Given the description of an element on the screen output the (x, y) to click on. 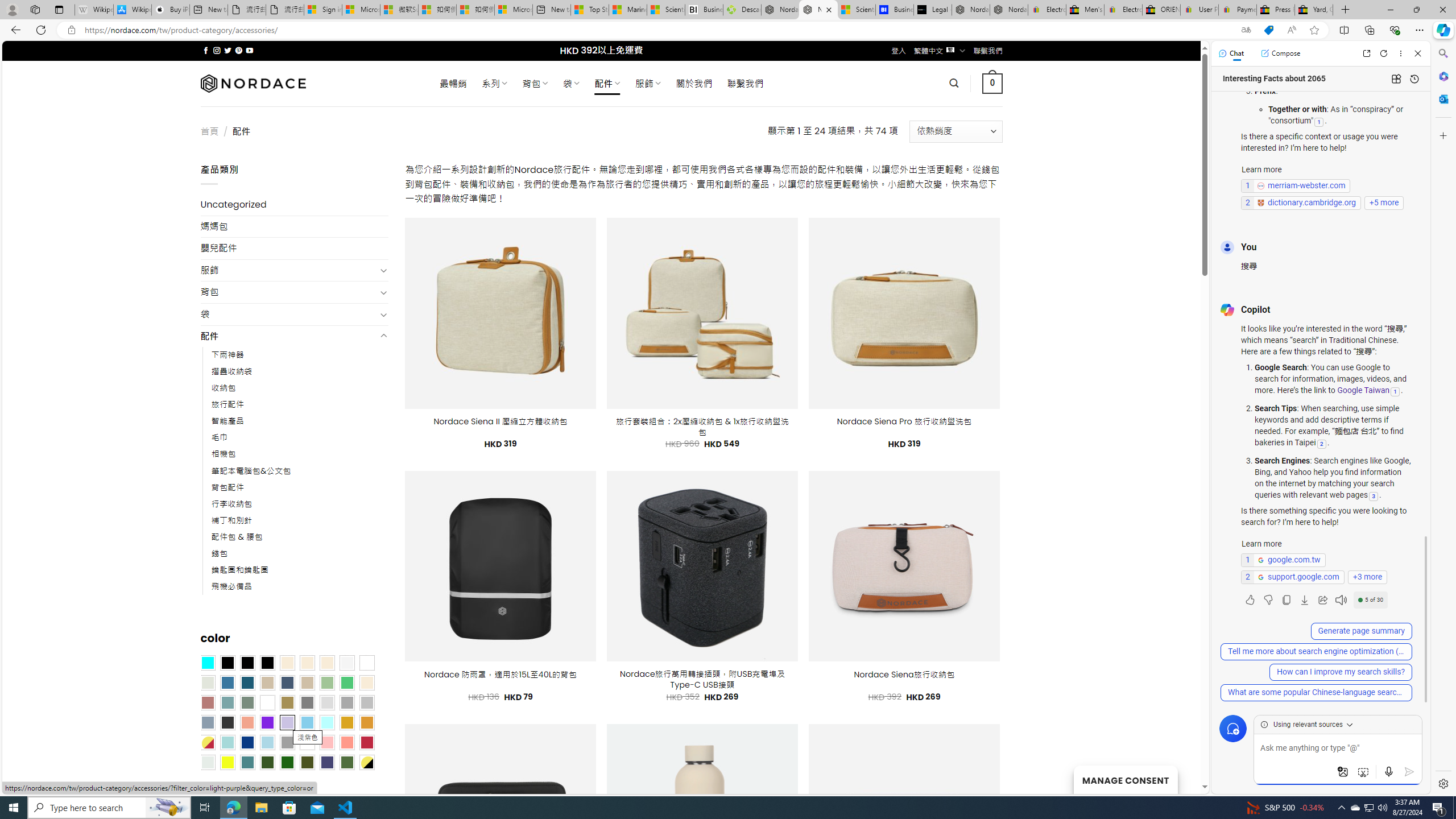
Follow on Pinterest (237, 50)
Marine life - MSN (628, 9)
Payments Terms of Use | eBay.com (1237, 9)
Follow on Twitter (227, 50)
